Given the description of an element on the screen output the (x, y) to click on. 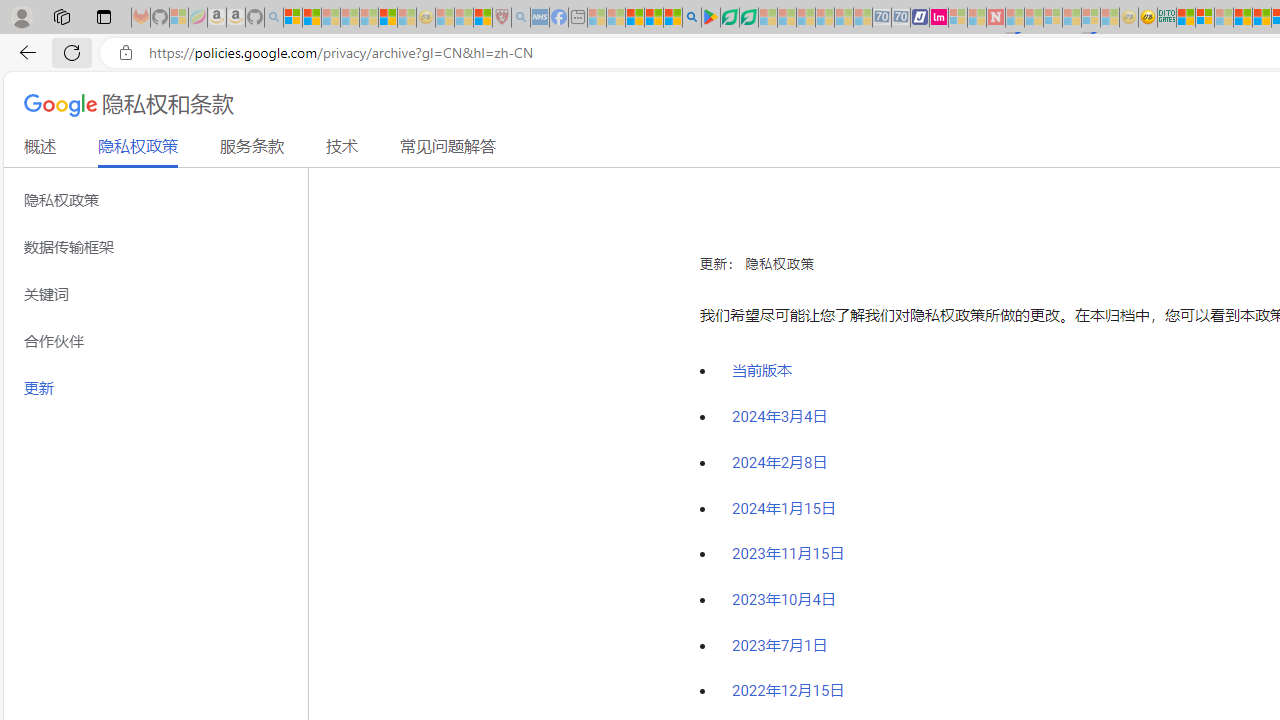
Terms of Use Agreement (729, 17)
Local - MSN (482, 17)
